Given the description of an element on the screen output the (x, y) to click on. 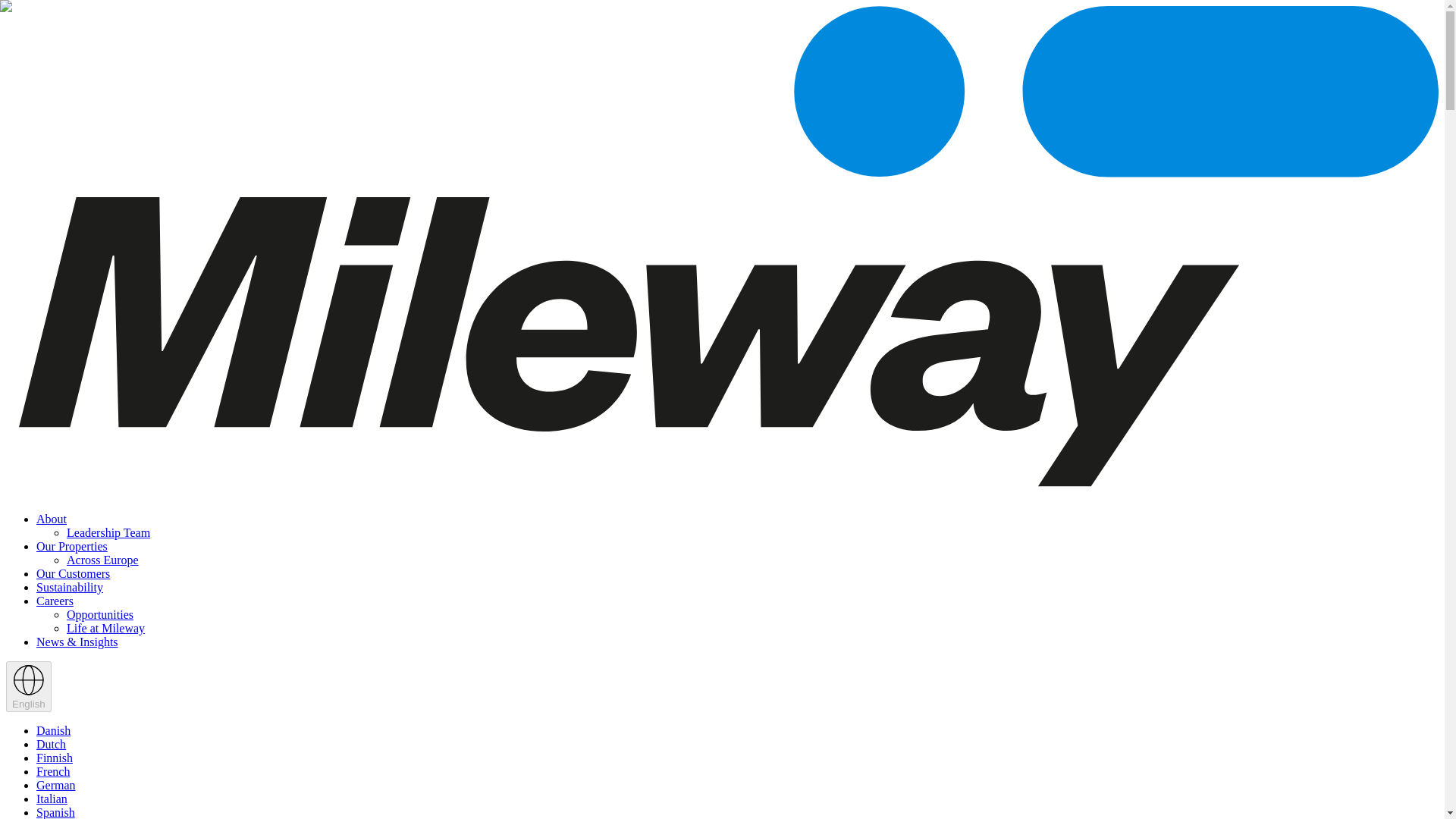
Dutch (50, 744)
Leadership Team (107, 532)
Life at Mileway (105, 627)
About (51, 518)
Spanish (55, 812)
French (52, 771)
Our Properties (71, 545)
Italian (51, 798)
Careers (55, 600)
Finnish (54, 757)
Sustainability (69, 586)
German (55, 784)
Across Europe (102, 559)
Danish (52, 730)
Our Customers (73, 573)
